Given the description of an element on the screen output the (x, y) to click on. 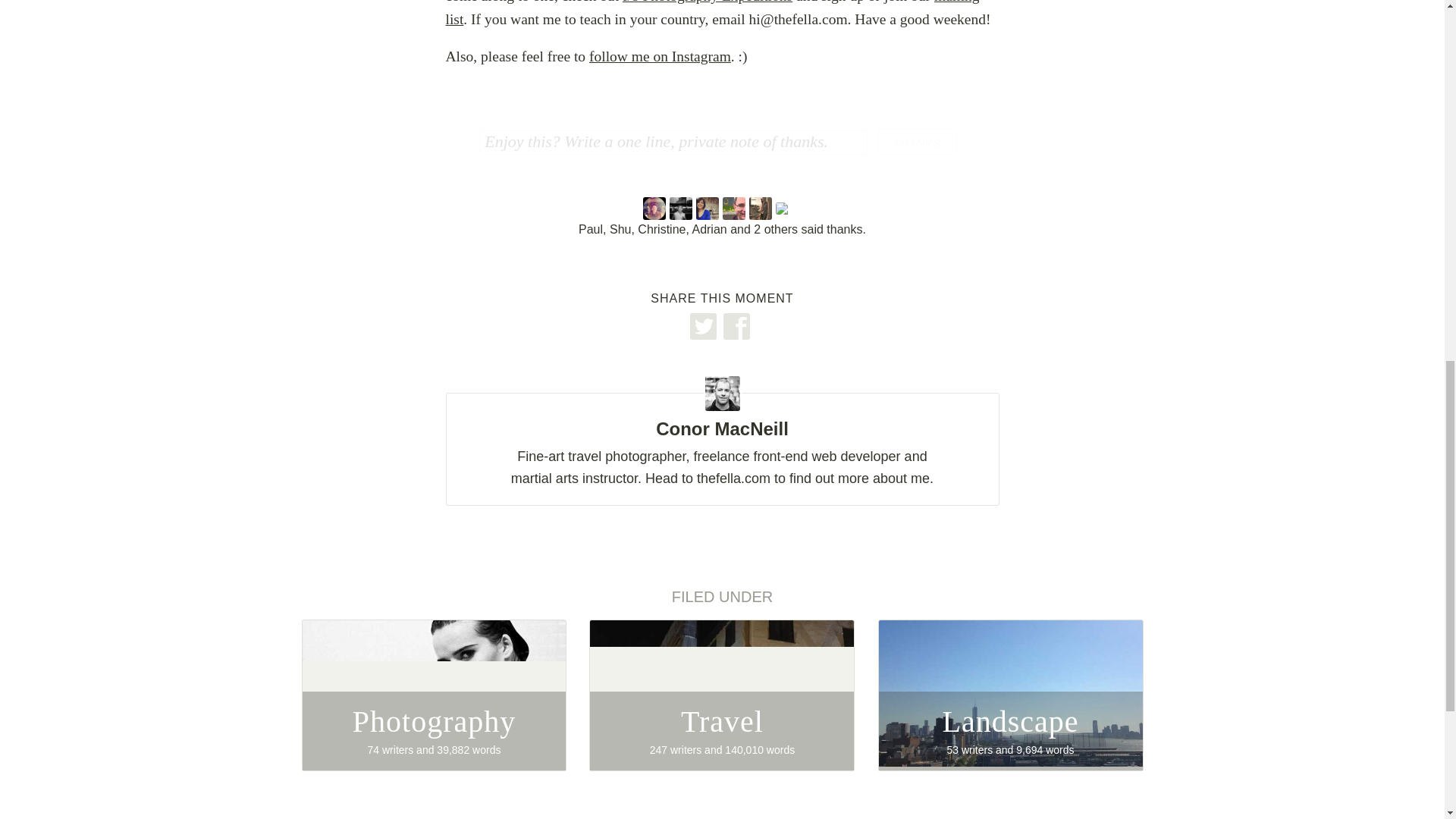
Lloyd Nebres (788, 209)
Adrian Tribe (721, 695)
David Wade Chambers (735, 209)
THANKS (762, 209)
Shu Kuge (916, 141)
Paul B (681, 209)
Conor MacNeill (656, 209)
Christine Herrin (721, 422)
